Given the description of an element on the screen output the (x, y) to click on. 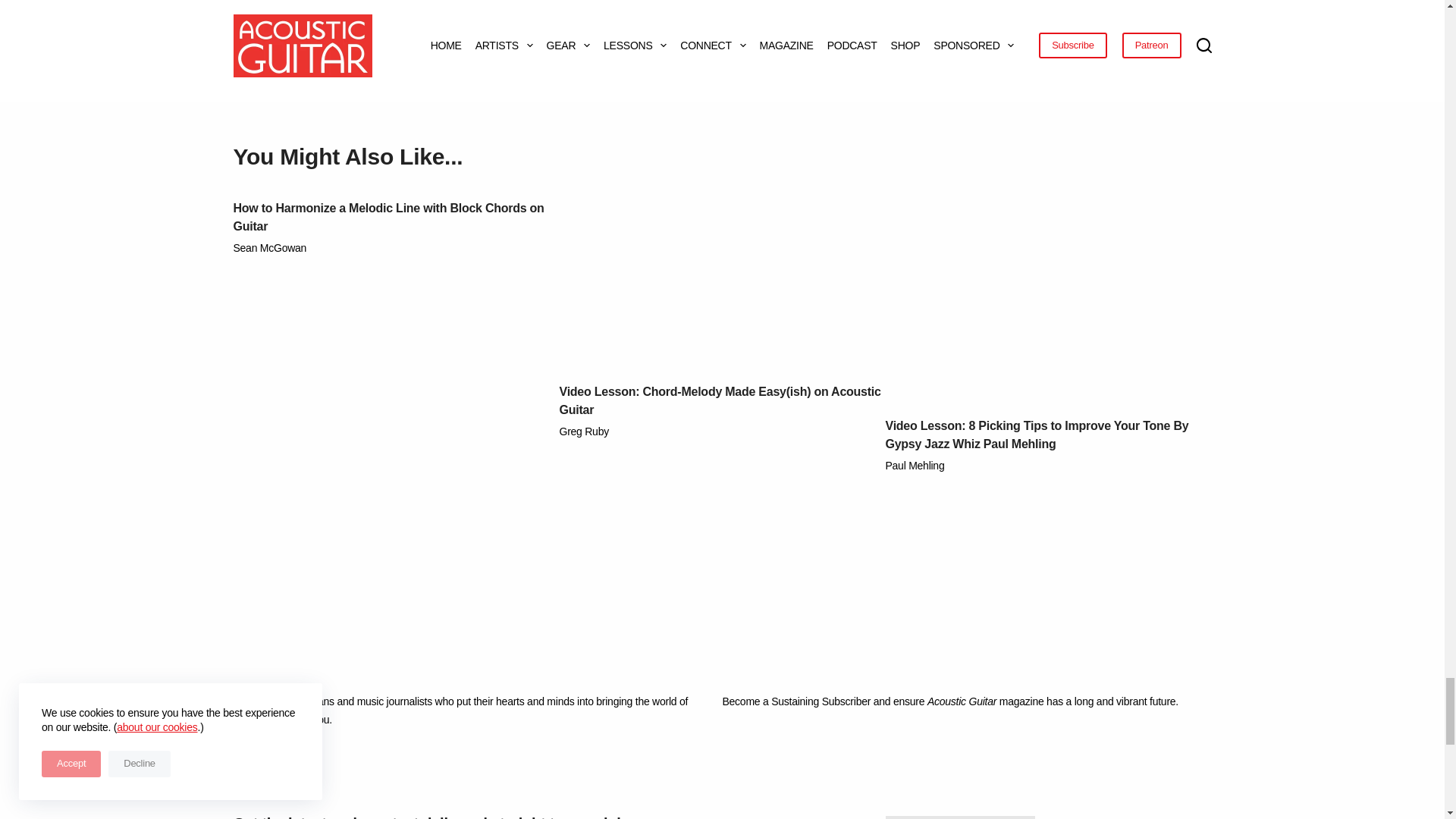
Posts by Sean McGowan (269, 247)
Posts by Paul Mehling (914, 465)
Posts by Greg Ruby (583, 431)
